Given the description of an element on the screen output the (x, y) to click on. 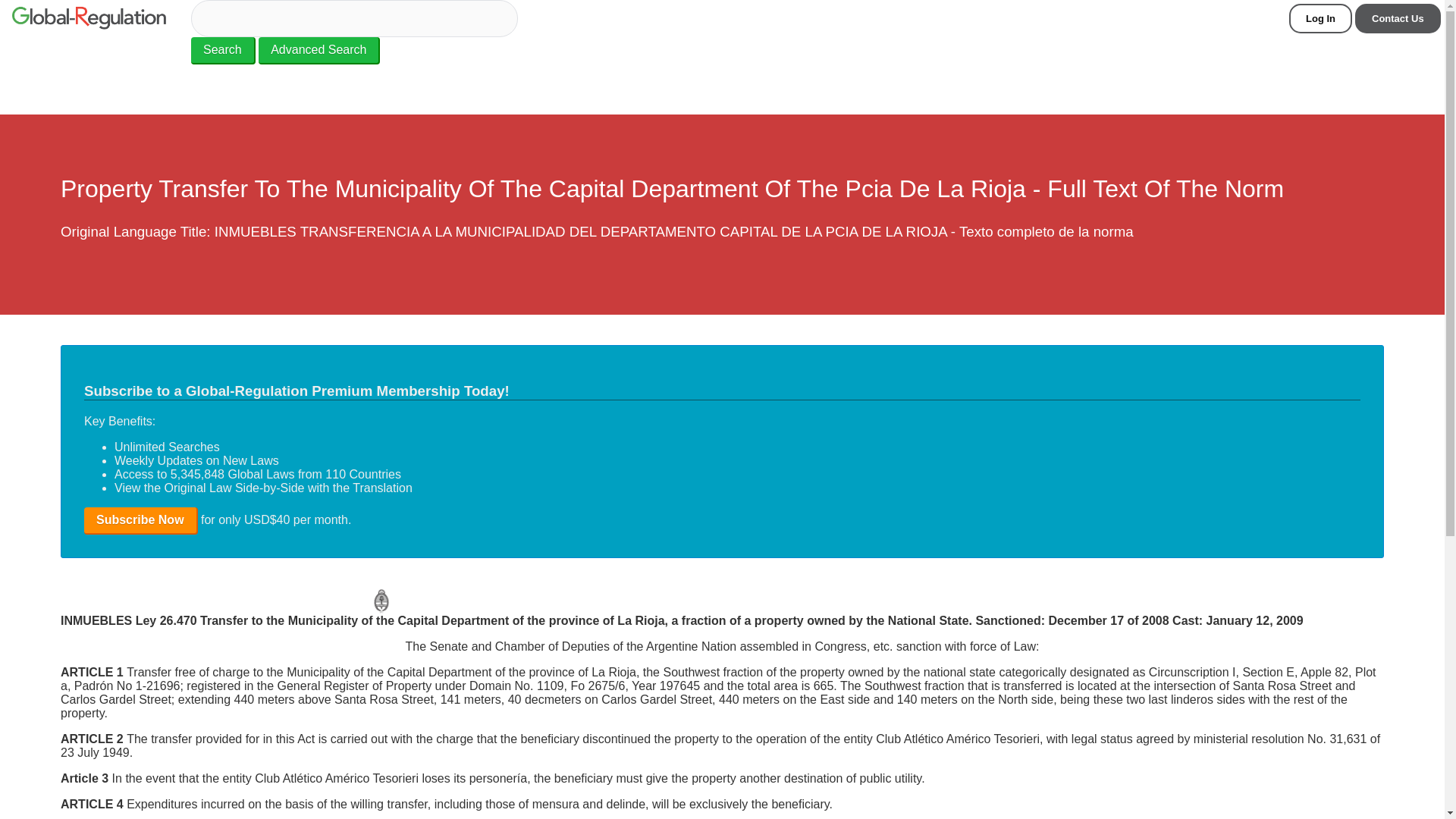
Subscribe Now (141, 520)
Search (223, 50)
Global-Regulation (88, 19)
Log In (1320, 18)
Contact Us (1398, 18)
Advanced Search (319, 50)
